Given the description of an element on the screen output the (x, y) to click on. 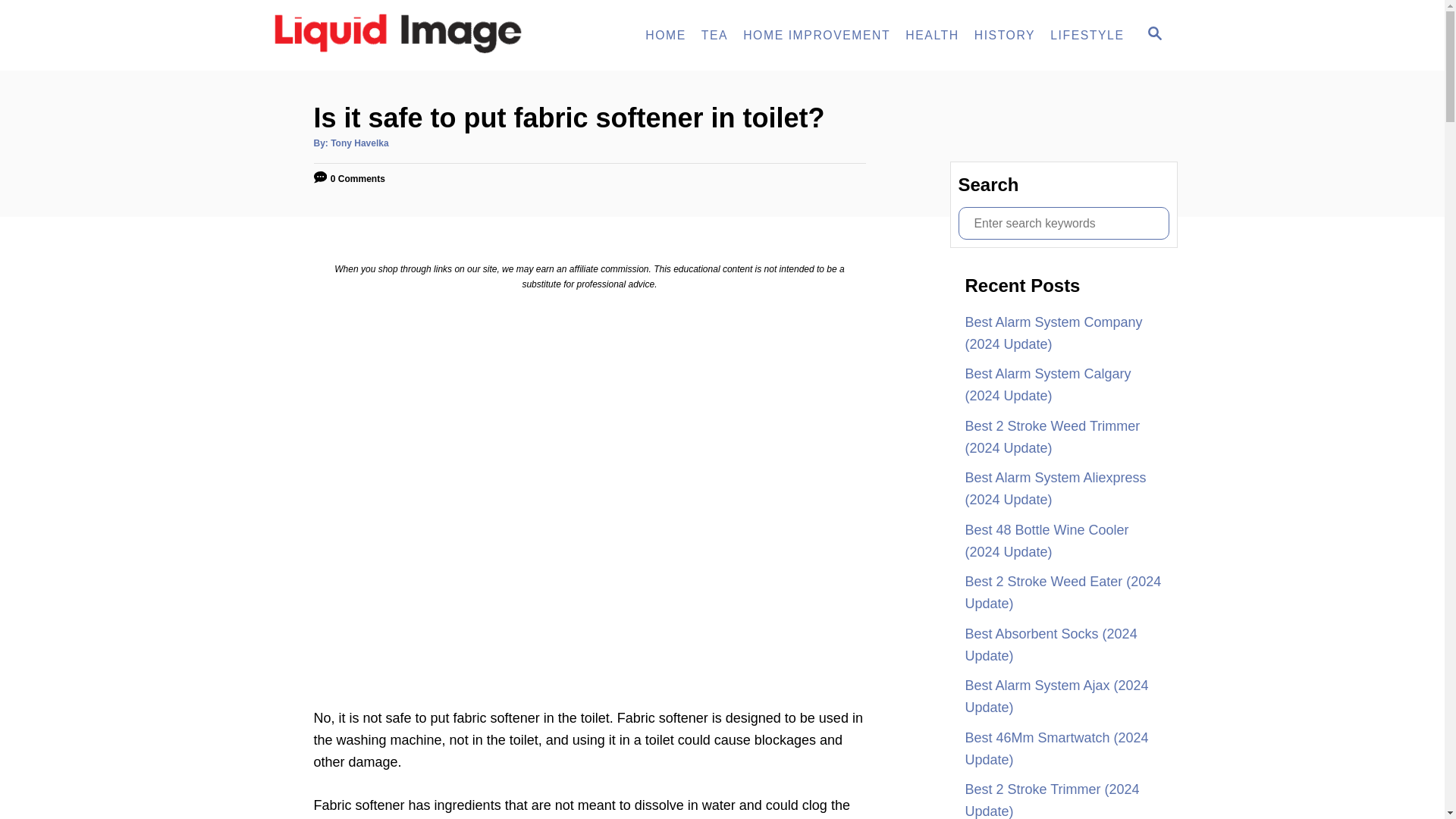
HOME (665, 35)
Tony Havelka (359, 143)
HISTORY (1004, 35)
LIFESTYLE (1086, 35)
MAGNIFYING GLASS (1153, 33)
YouTube player (1153, 35)
Search for: (932, 35)
HOME IMPROVEMENT (1063, 223)
